Given the description of an element on the screen output the (x, y) to click on. 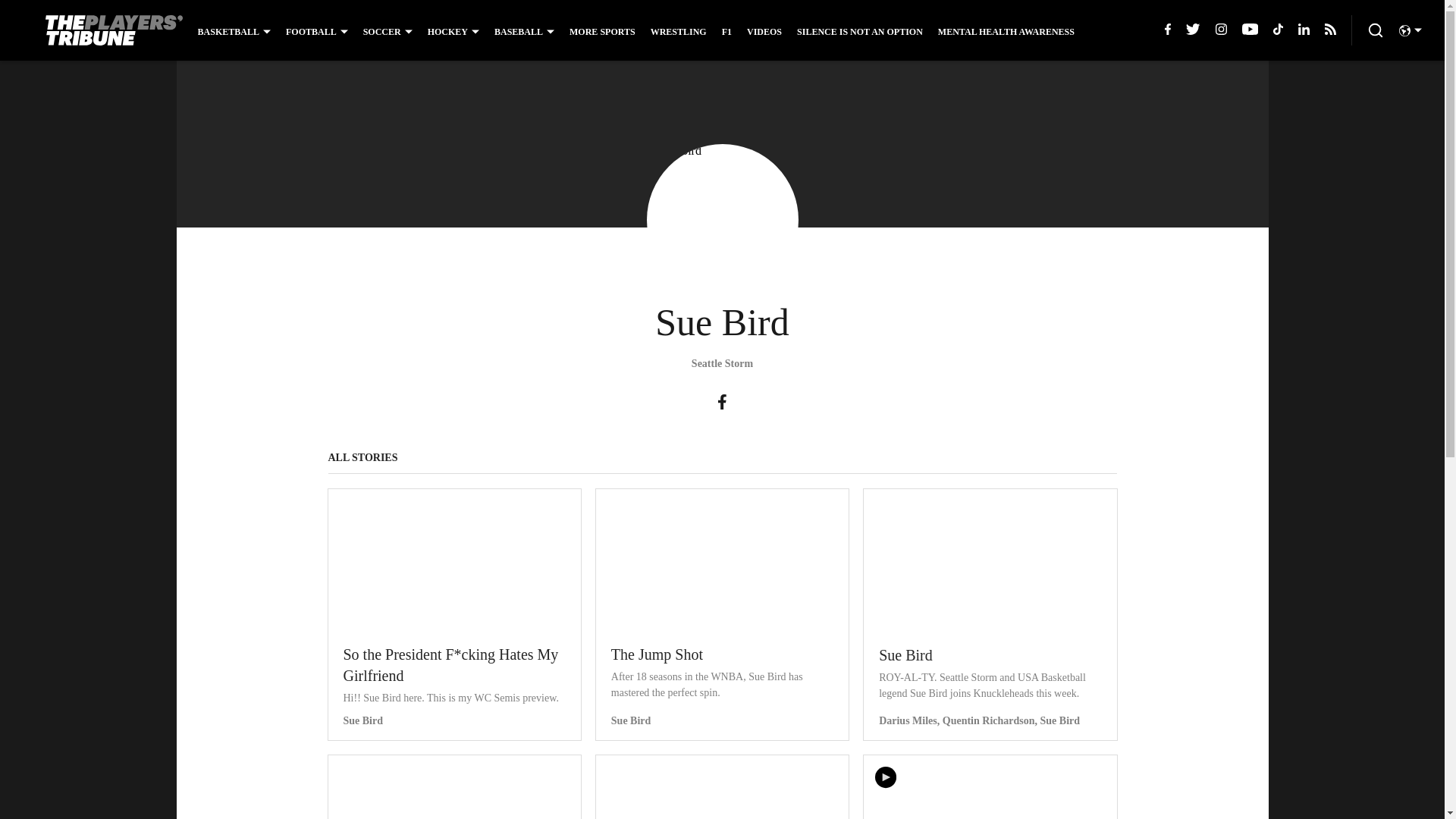
VIDEOS (763, 31)
WRESTLING (678, 31)
MORE SPORTS (601, 31)
MENTAL HEALTH AWARENESS (1005, 31)
F1 (727, 31)
Sue Bird (721, 219)
SILENCE IS NOT AN OPTION (859, 31)
